Given the description of an element on the screen output the (x, y) to click on. 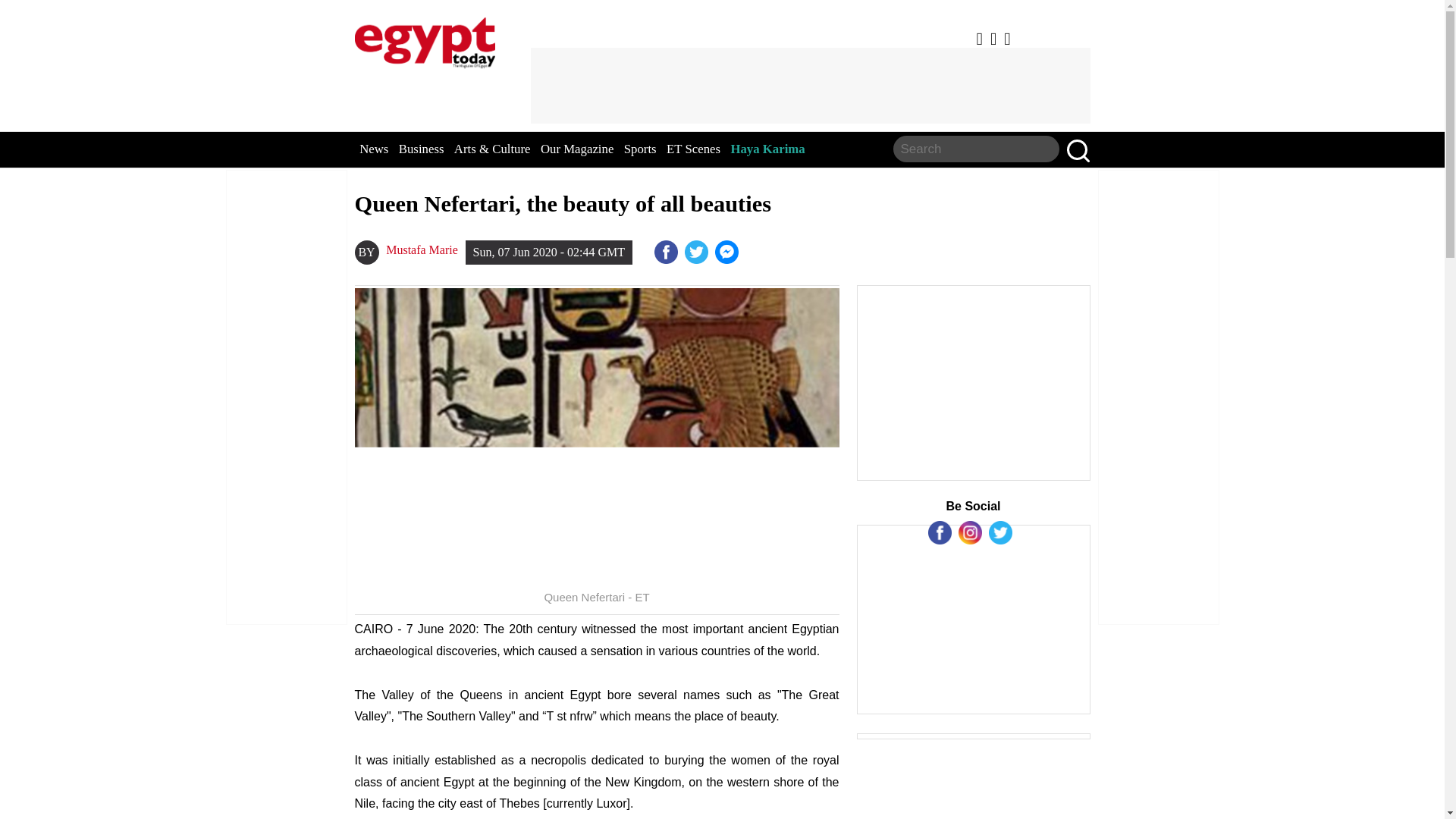
ET Scenes (693, 149)
Mustafa Marie (421, 250)
EgyptToday (425, 39)
Business (421, 149)
Haya Karima (767, 149)
Sports (640, 149)
Sisi heads to Guinea first destination in overseas tour (727, 251)
Our Magazine (576, 149)
